Given the description of an element on the screen output the (x, y) to click on. 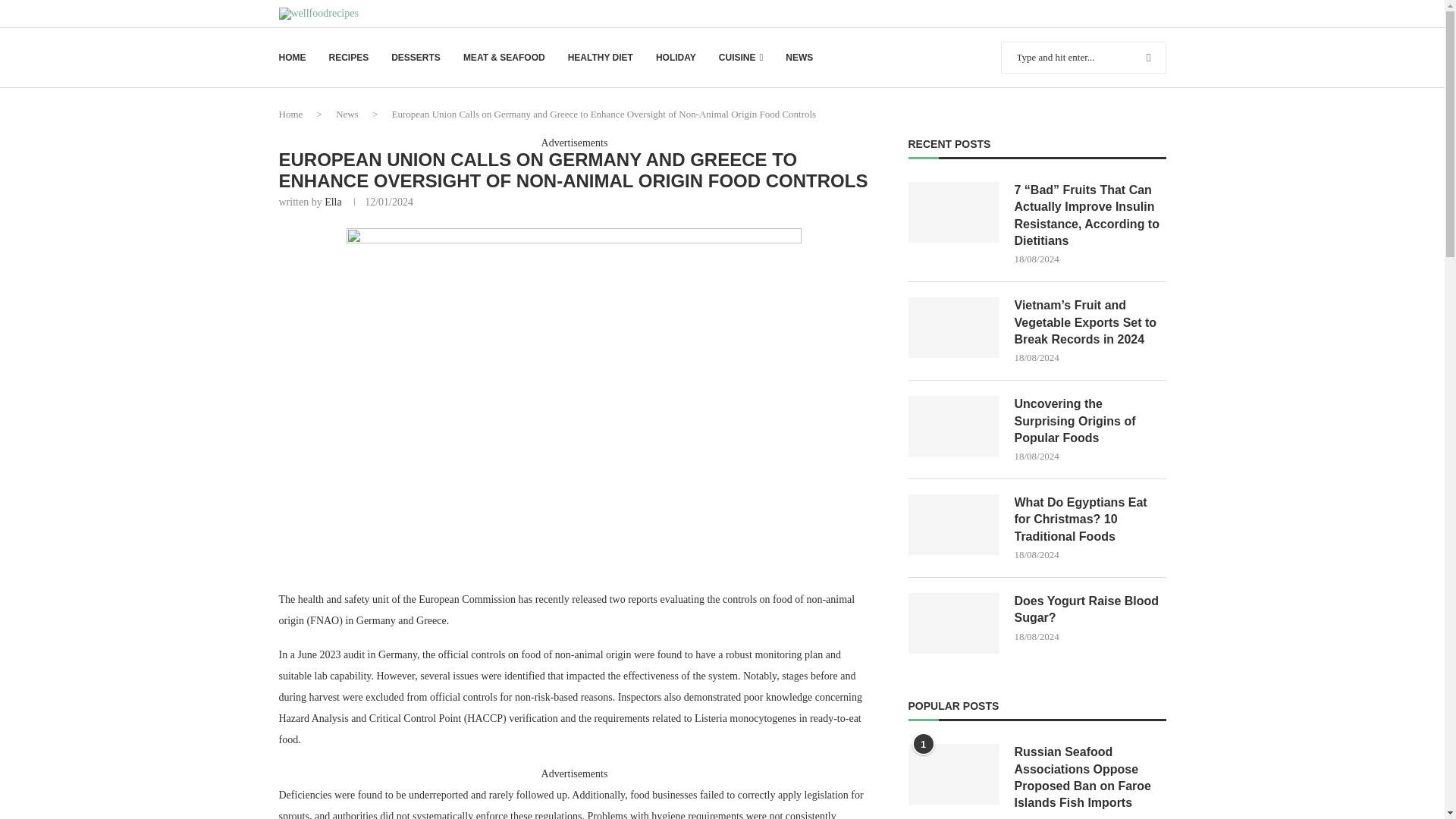
HOLIDAY (675, 57)
Uncovering the Surprising Origins of Popular Foods (953, 425)
HEALTHY DIET (600, 57)
DESSERTS (416, 57)
CUISINE (740, 57)
RECIPES (349, 57)
